Given the description of an element on the screen output the (x, y) to click on. 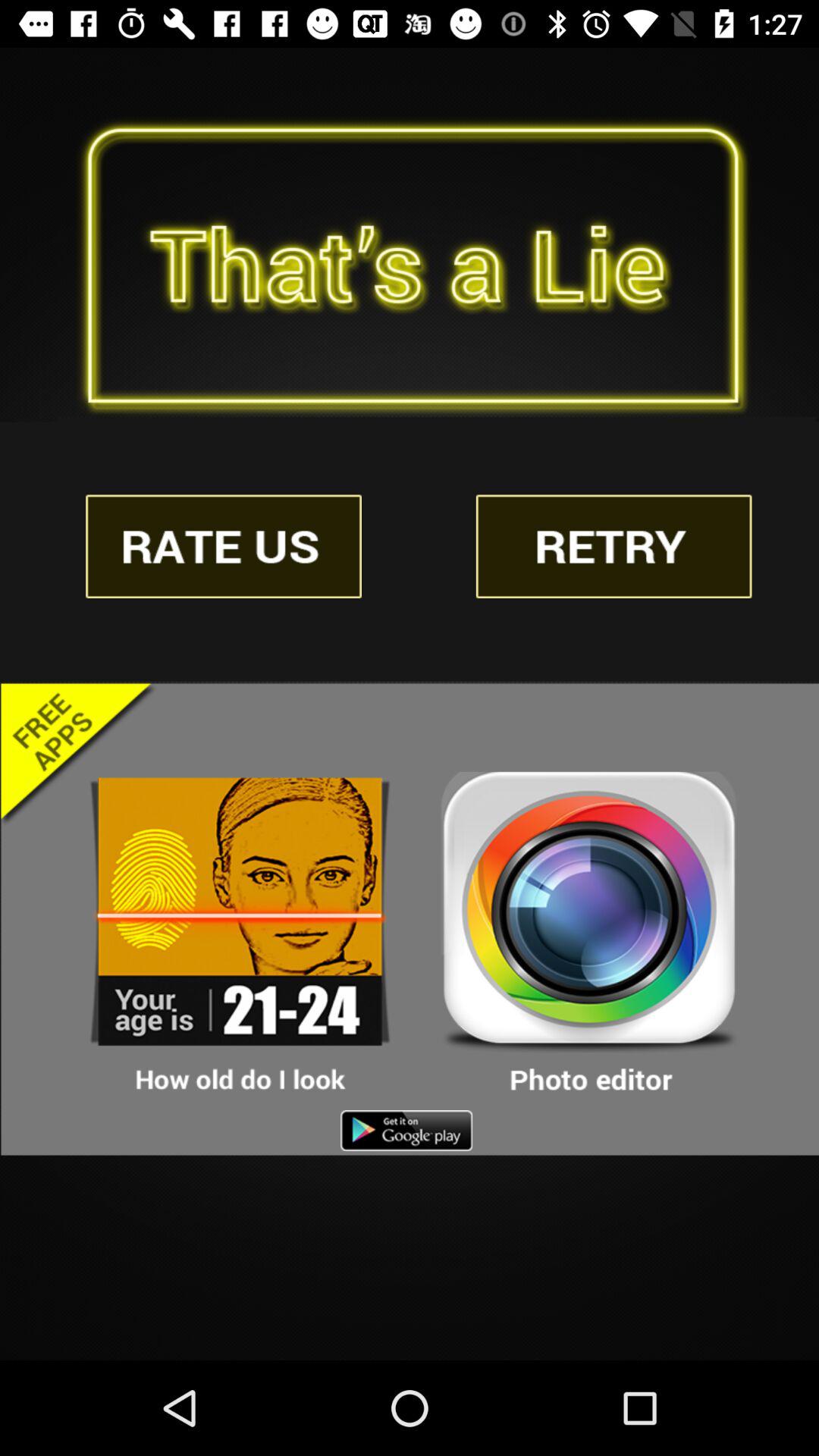
retry game (613, 546)
